Given the description of an element on the screen output the (x, y) to click on. 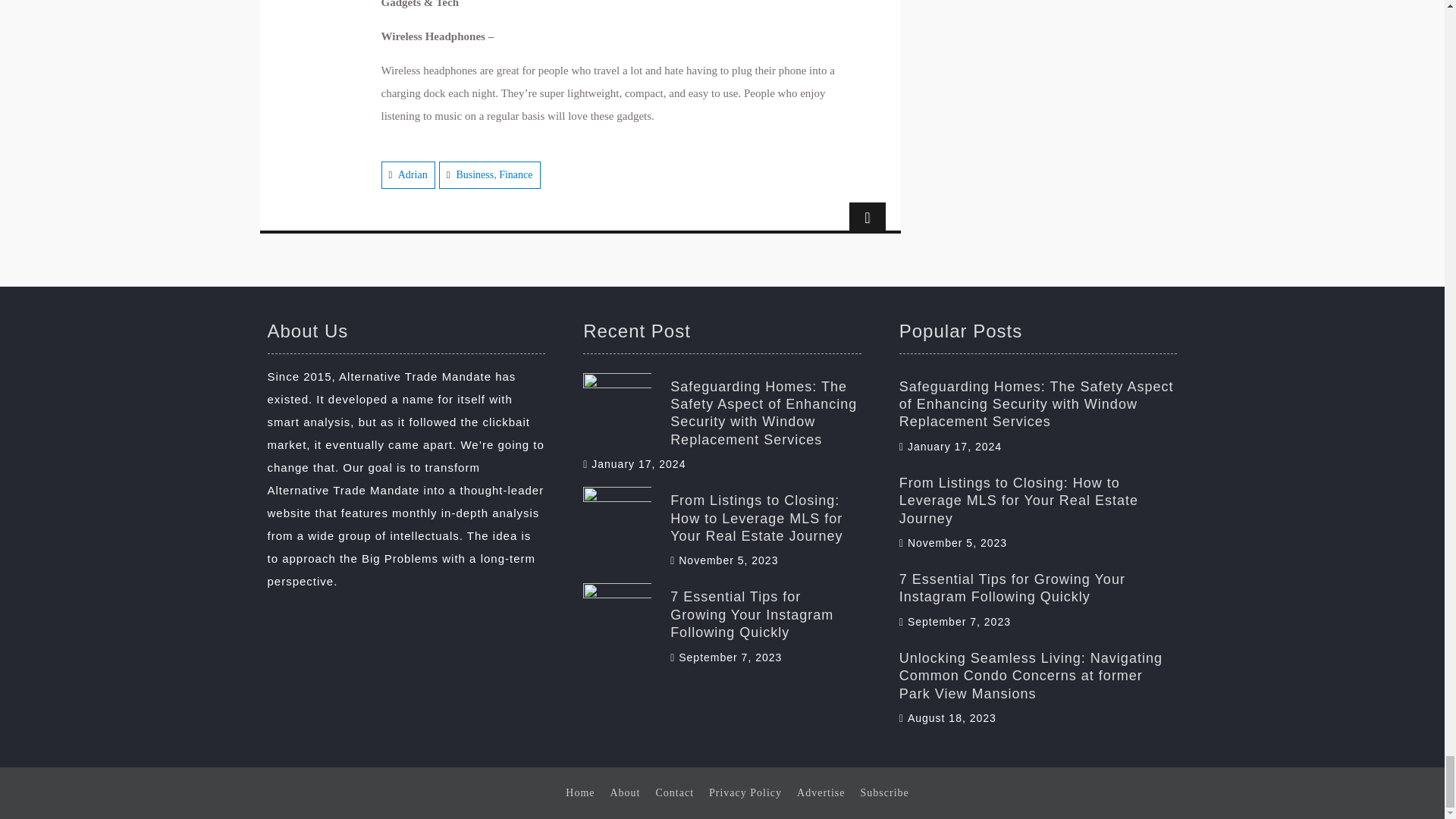
Adrian (412, 174)
Business (474, 174)
Finance (515, 174)
